Given the description of an element on the screen output the (x, y) to click on. 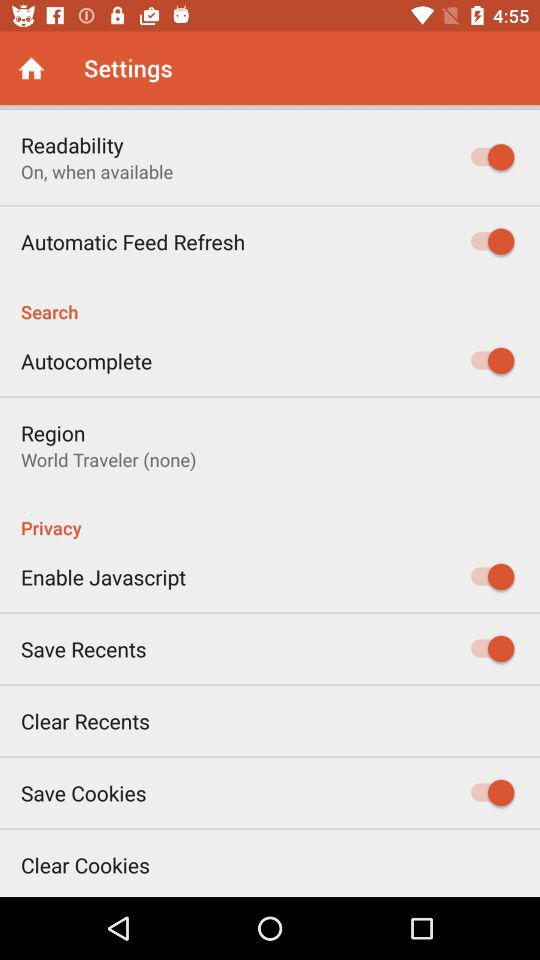
flip until on, when available item (97, 171)
